Given the description of an element on the screen output the (x, y) to click on. 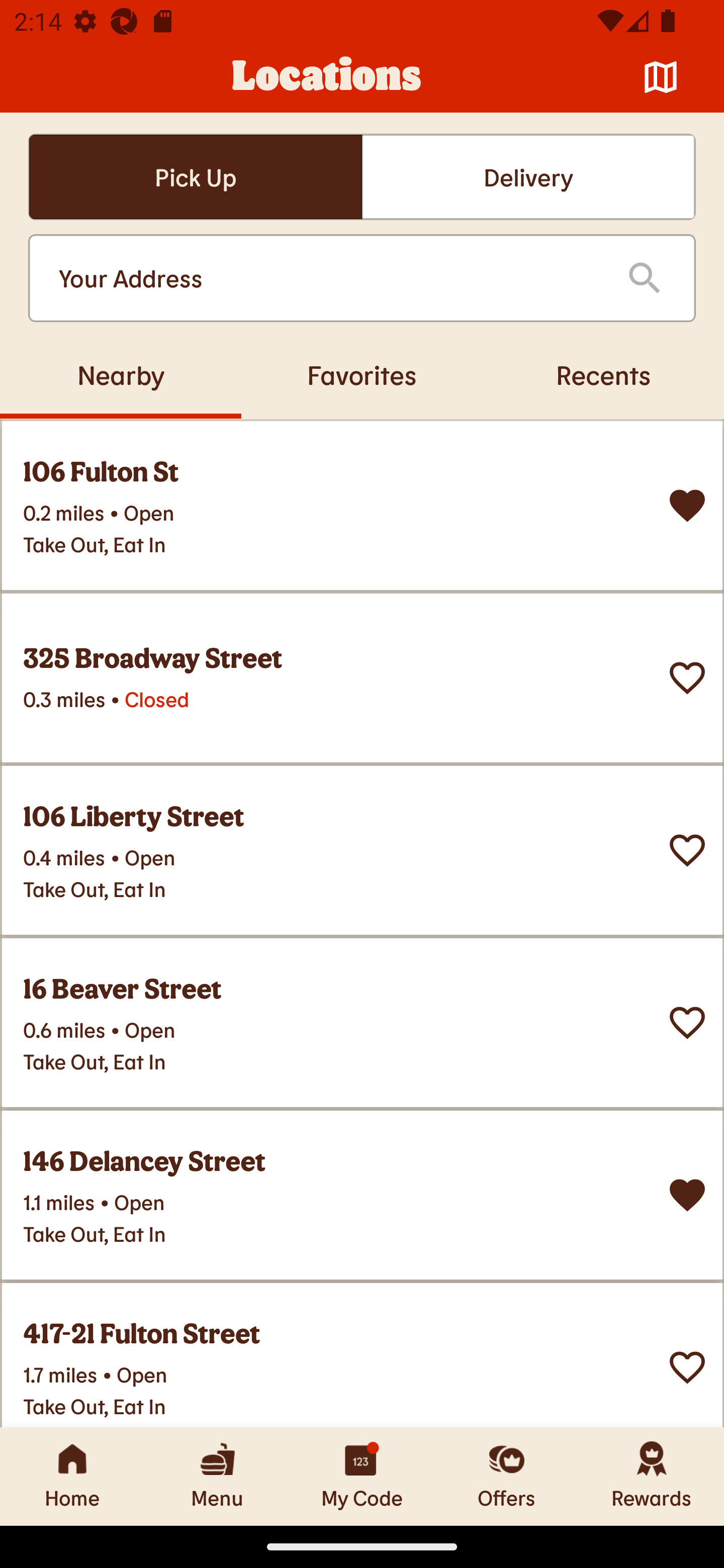
Map 󰦂 (660, 77)
Locations (326, 77)
Pick UpSelected Pick UpSelected Pick Up (195, 176)
Delivery Delivery Delivery (528, 176)
Your Address (327, 277)
Nearby (120, 374)
Favorites (361, 374)
Recents (603, 374)
Remove from Favorites?  (687, 505)
Set this restaurant as a favorite  (687, 677)
Set this restaurant as a favorite  (687, 850)
Set this restaurant as a favorite  (687, 1022)
Remove from Favorites?  (687, 1195)
Set this restaurant as a favorite  (687, 1367)
Home (72, 1475)
Menu (216, 1475)
My Code (361, 1475)
Offers (506, 1475)
Rewards (651, 1475)
